Given the description of an element on the screen output the (x, y) to click on. 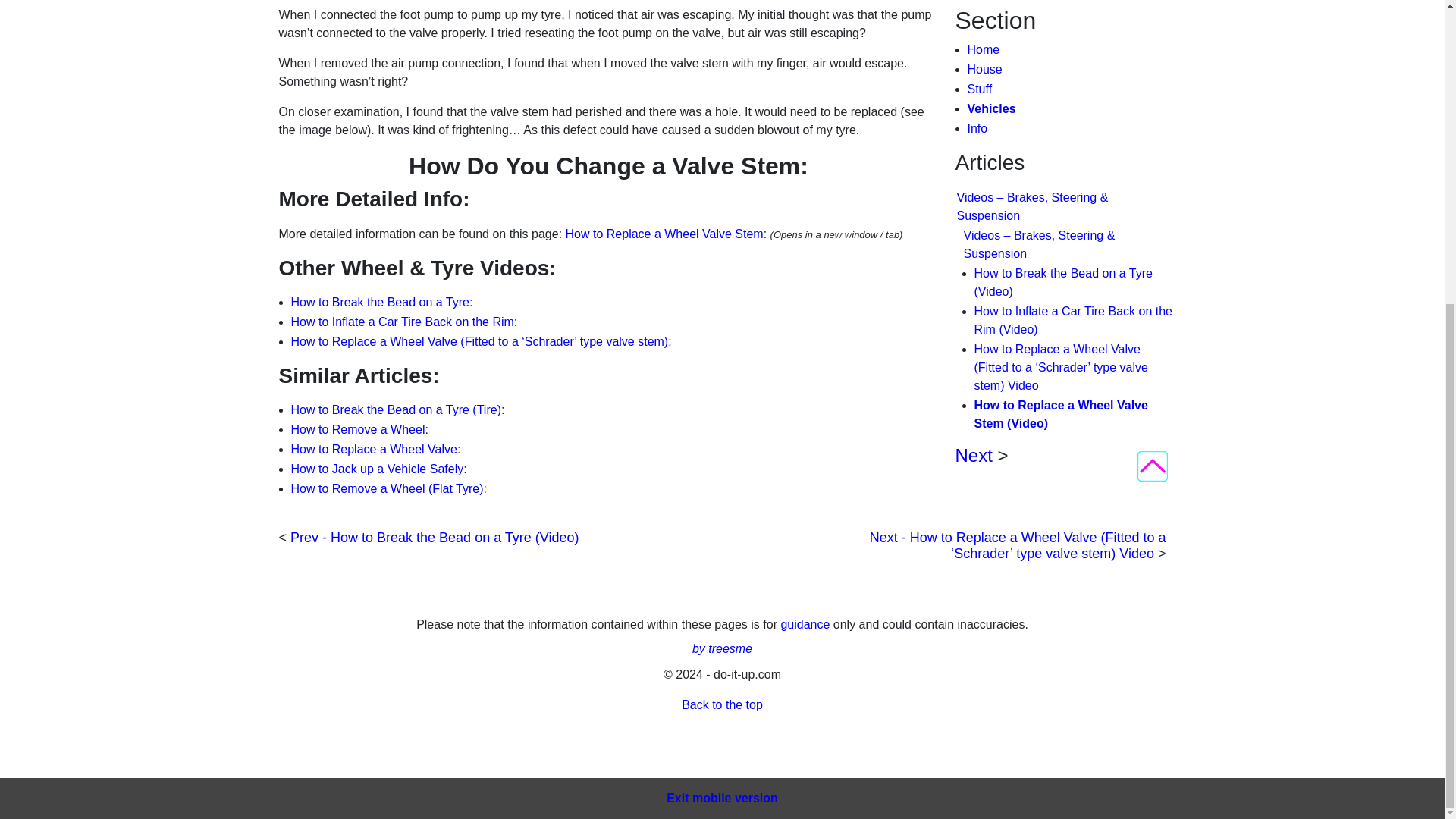
How to Replace a Wheel Valve (374, 449)
Back to the top (721, 704)
by treesme (722, 648)
How to Remove a Wheel (358, 429)
How to Replace a Wheel Valve Stem (664, 233)
guidance (806, 624)
How to Inflate a Car Tire Back on the Rim: (404, 321)
Next (973, 68)
How to Break the Bead on a Tyre: (382, 301)
How to Jack up a Vehicle Safely (377, 468)
